Given the description of an element on the screen output the (x, y) to click on. 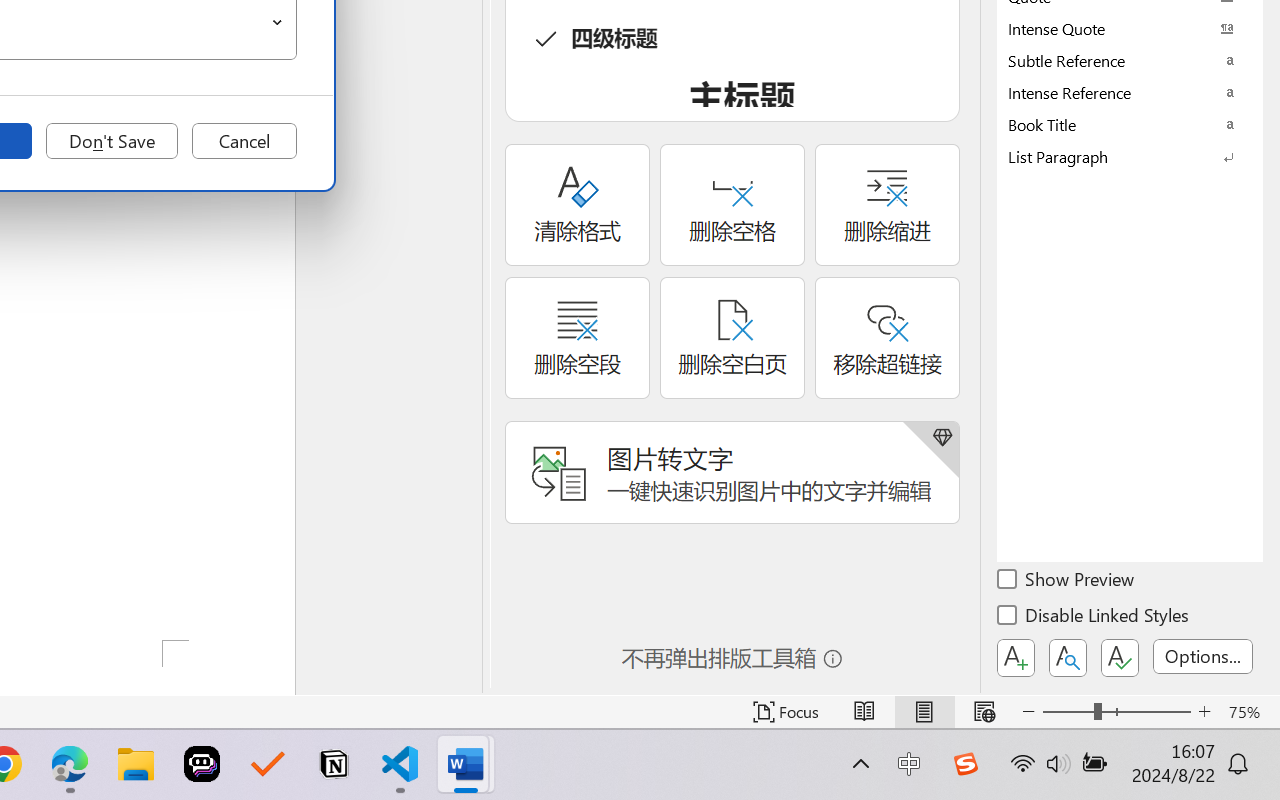
Show Preview (1067, 582)
Subtle Reference (1130, 60)
Focus  (786, 712)
Read Mode (864, 712)
